Given the description of an element on the screen output the (x, y) to click on. 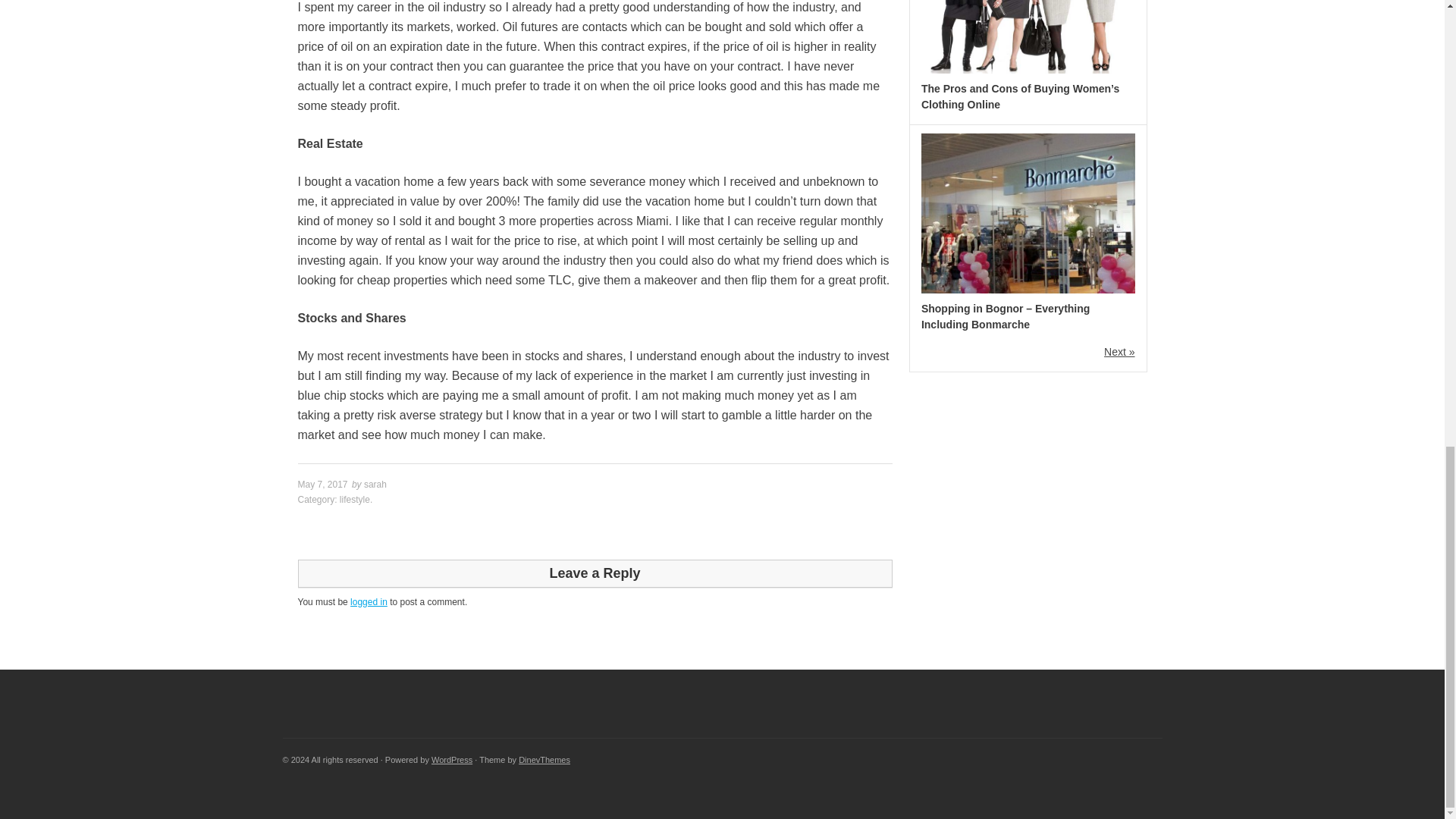
May 7, 2017 (322, 484)
sarah (375, 484)
logged in (368, 602)
WordPress (450, 759)
lifestyle (354, 499)
DinevThemes (544, 759)
